Given the description of an element on the screen output the (x, y) to click on. 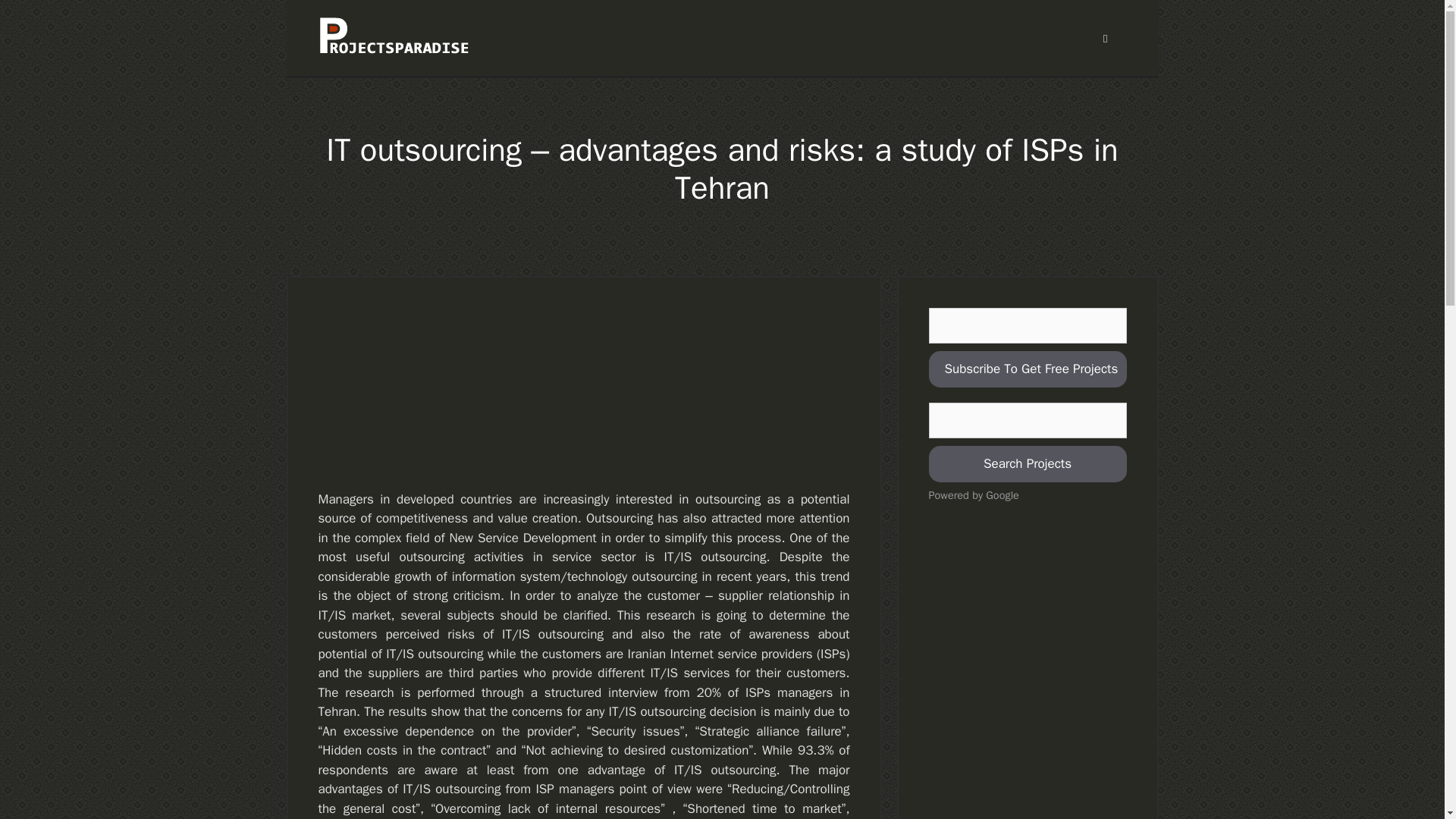
Search Projects (1026, 463)
Subscribe To Get Free Projects (1026, 369)
Subscribe To Get Free Projects (1026, 369)
Search Projects (1026, 463)
